Given the description of an element on the screen output the (x, y) to click on. 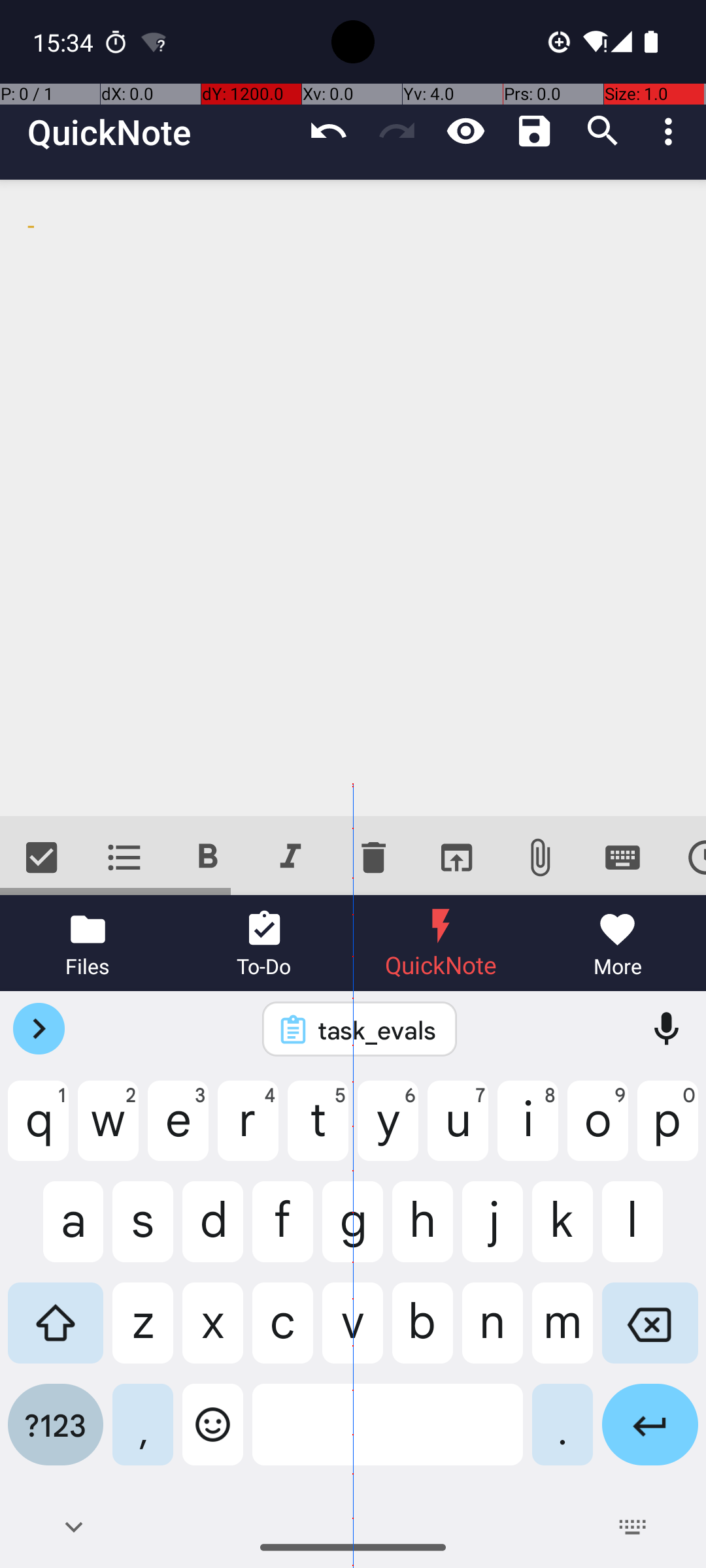
task_evals Element type: android.widget.TextView (376, 1029)
